Given the description of an element on the screen output the (x, y) to click on. 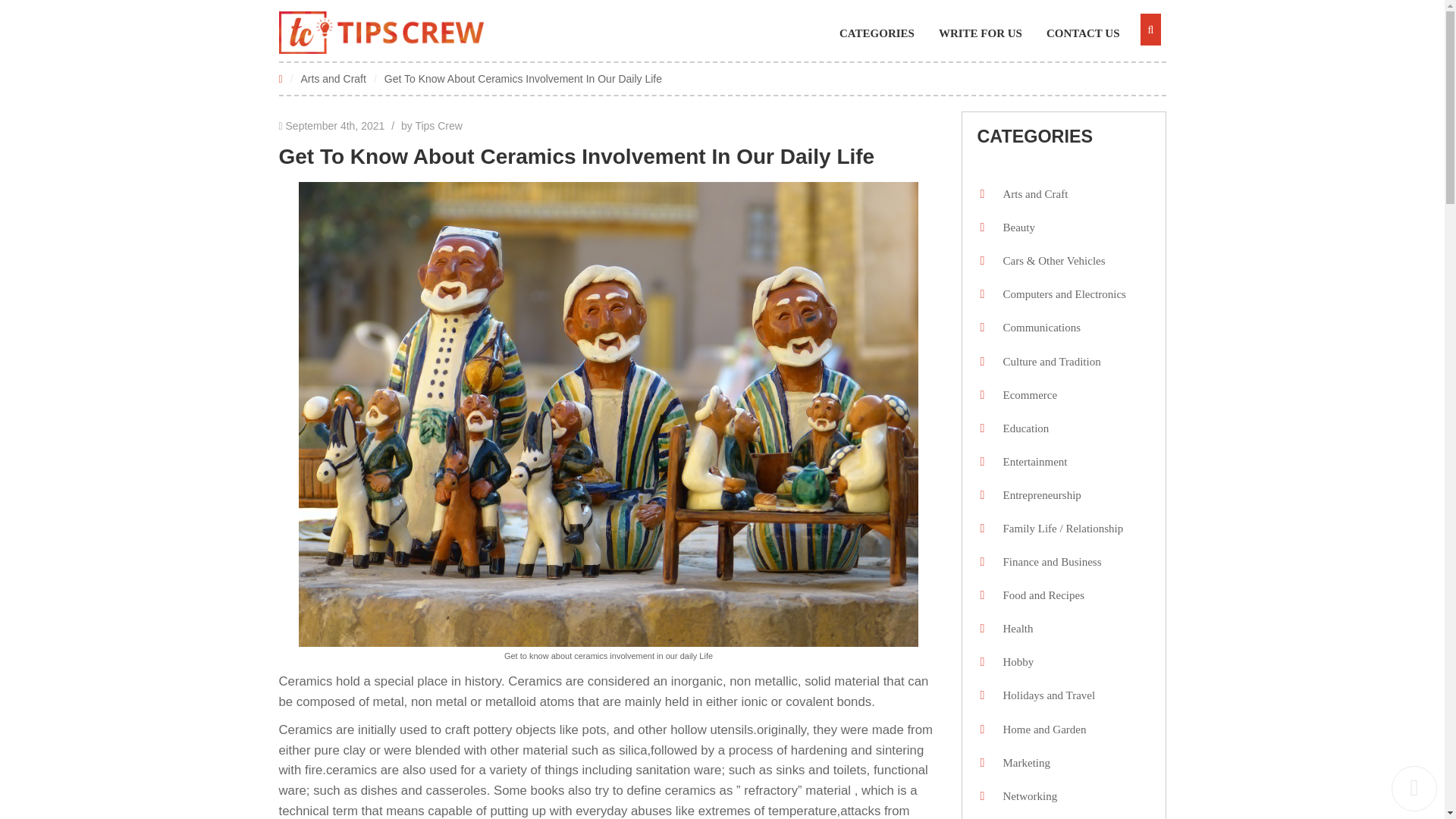
CATEGORIES (884, 33)
WRITE FOR US (987, 33)
Culture and Tradition (1047, 361)
CONTACT US (1090, 33)
Communications (1037, 327)
Arts and Craft (1030, 193)
Beauty (1014, 227)
TIPSCREW (381, 32)
Arts and Craft (333, 78)
Arts and Craft (333, 78)
